Given the description of an element on the screen output the (x, y) to click on. 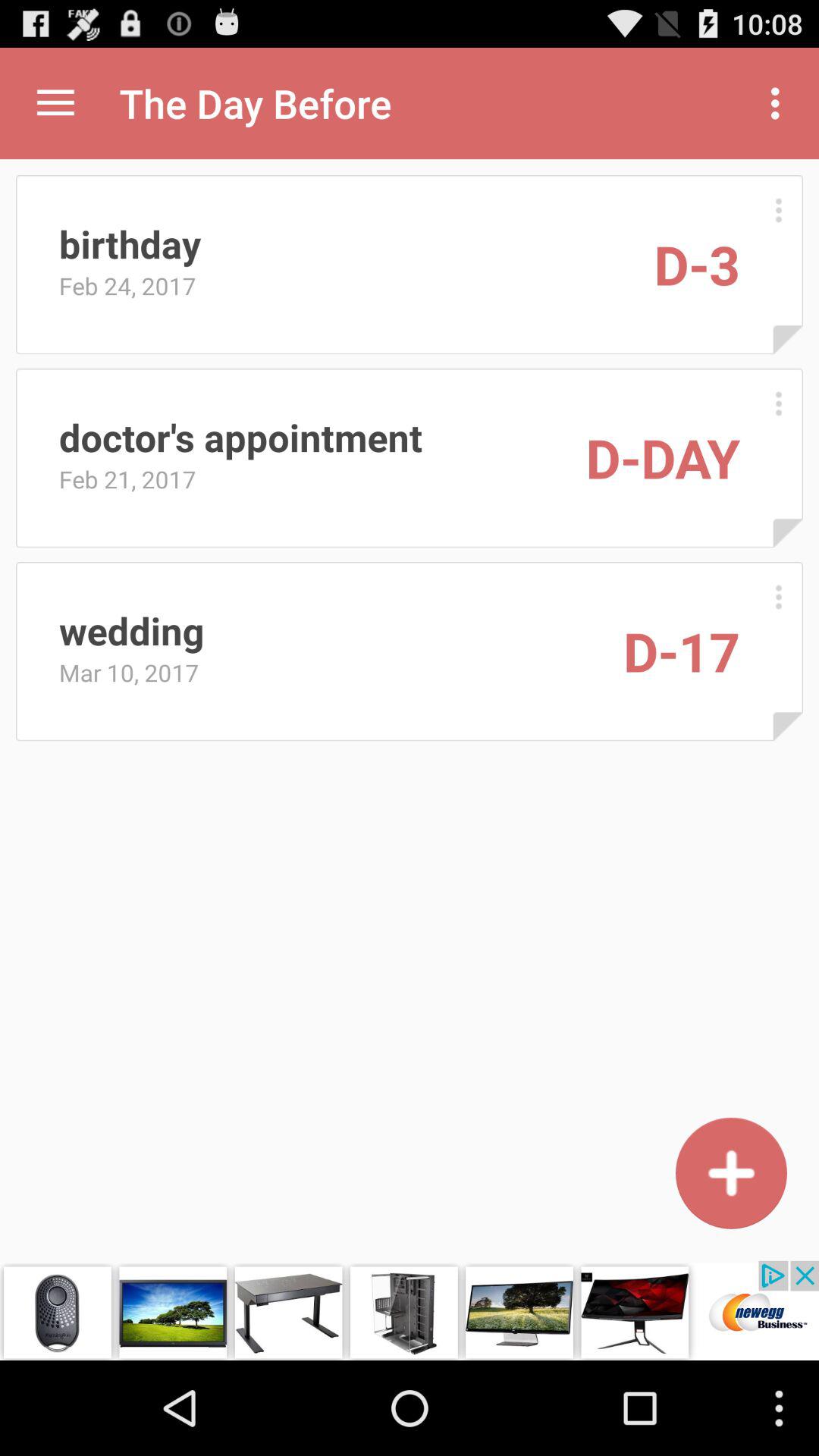
access pulldown menu (55, 103)
